Given the description of an element on the screen output the (x, y) to click on. 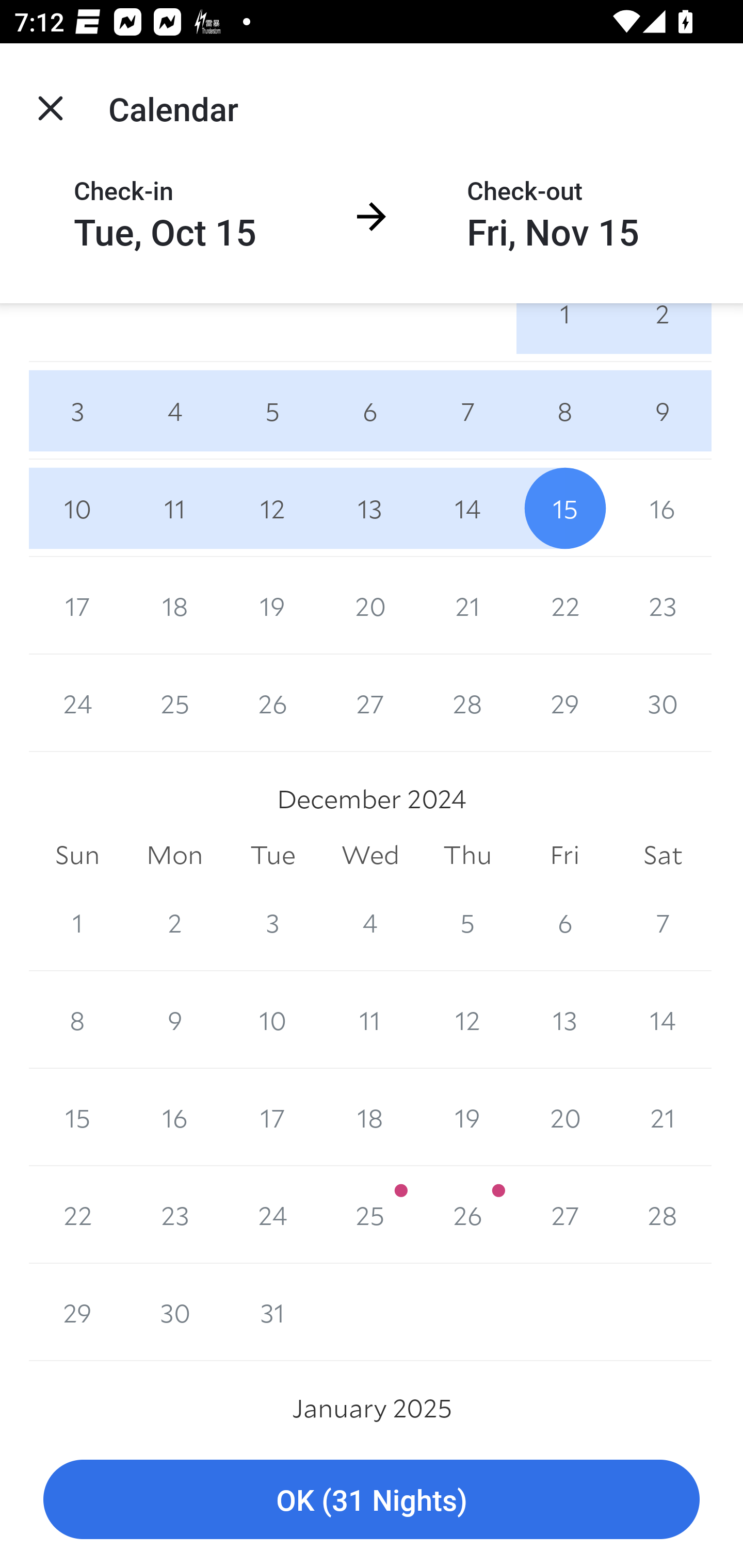
1 1 November 2024 (564, 332)
2 2 November 2024 (662, 332)
3 3 November 2024 (77, 410)
4 4 November 2024 (174, 410)
5 5 November 2024 (272, 410)
6 6 November 2024 (370, 410)
7 7 November 2024 (467, 410)
8 8 November 2024 (564, 410)
9 9 November 2024 (662, 410)
10 10 November 2024 (77, 507)
11 11 November 2024 (174, 507)
12 12 November 2024 (272, 507)
13 13 November 2024 (370, 507)
14 14 November 2024 (467, 507)
15 15 November 2024 (564, 507)
16 16 November 2024 (662, 507)
17 17 November 2024 (77, 604)
18 18 November 2024 (174, 604)
19 19 November 2024 (272, 604)
20 20 November 2024 (370, 604)
21 21 November 2024 (467, 604)
22 22 November 2024 (564, 604)
23 23 November 2024 (662, 604)
24 24 November 2024 (77, 702)
25 25 November 2024 (174, 702)
26 26 November 2024 (272, 702)
27 27 November 2024 (370, 702)
28 28 November 2024 (467, 702)
29 29 November 2024 (564, 702)
30 30 November 2024 (662, 702)
Sun (77, 855)
Mon (174, 855)
Tue (272, 855)
Wed (370, 855)
Thu (467, 855)
Fri (564, 855)
Sat (662, 855)
1 1 December 2024 (77, 921)
2 2 December 2024 (174, 921)
3 3 December 2024 (272, 921)
4 4 December 2024 (370, 921)
5 5 December 2024 (467, 921)
6 6 December 2024 (564, 921)
7 7 December 2024 (662, 921)
8 8 December 2024 (77, 1019)
9 9 December 2024 (174, 1019)
10 10 December 2024 (272, 1019)
11 11 December 2024 (370, 1019)
12 12 December 2024 (467, 1019)
